Given the description of an element on the screen output the (x, y) to click on. 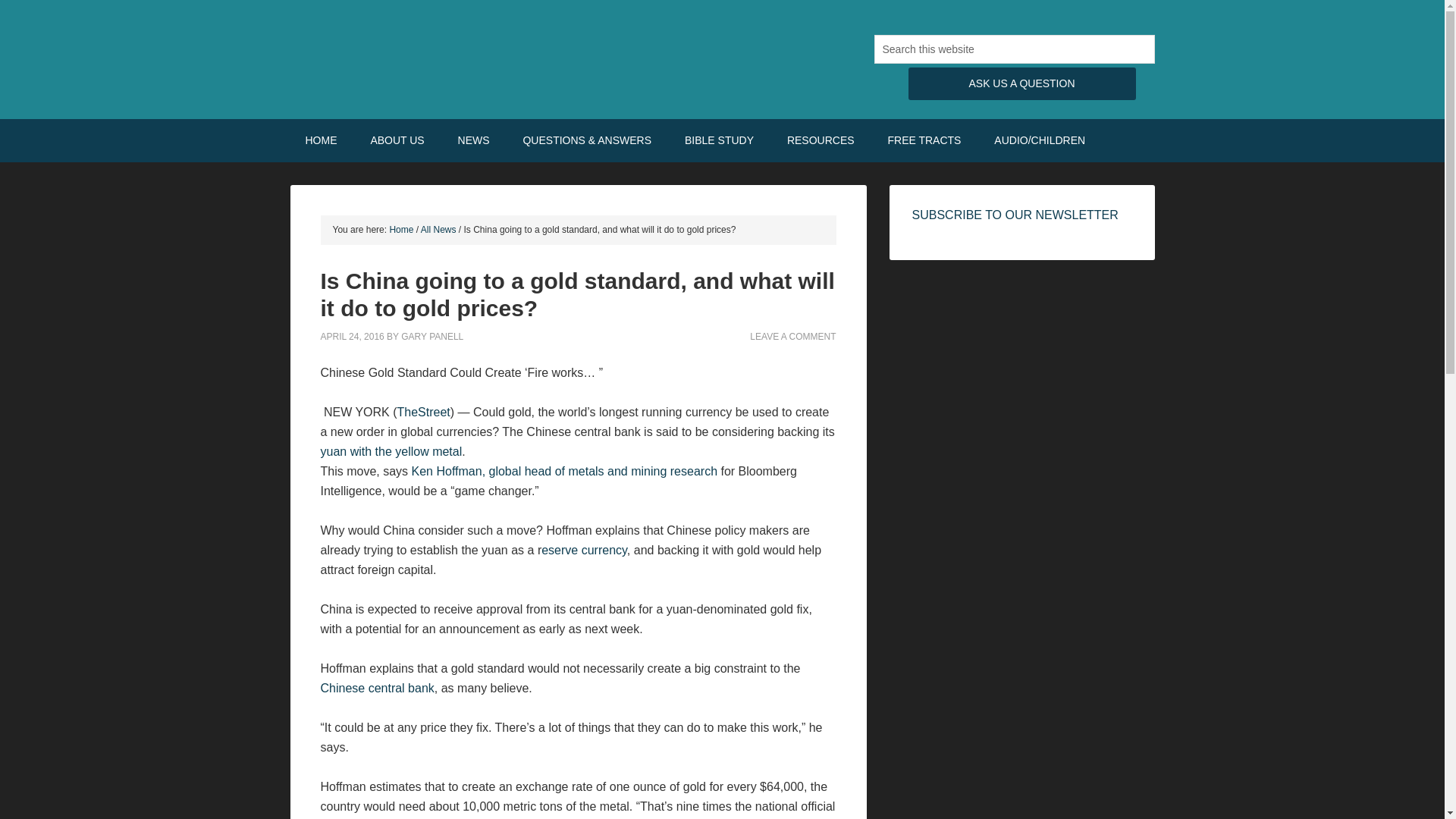
Chinese central bank (376, 687)
FREE TRACTS (923, 140)
ASK US A QUESTION (1021, 83)
ABOUT US (397, 140)
BIBLE STUDY (718, 140)
LEAVE A COMMENT (792, 336)
eserve currency (584, 549)
